Given the description of an element on the screen output the (x, y) to click on. 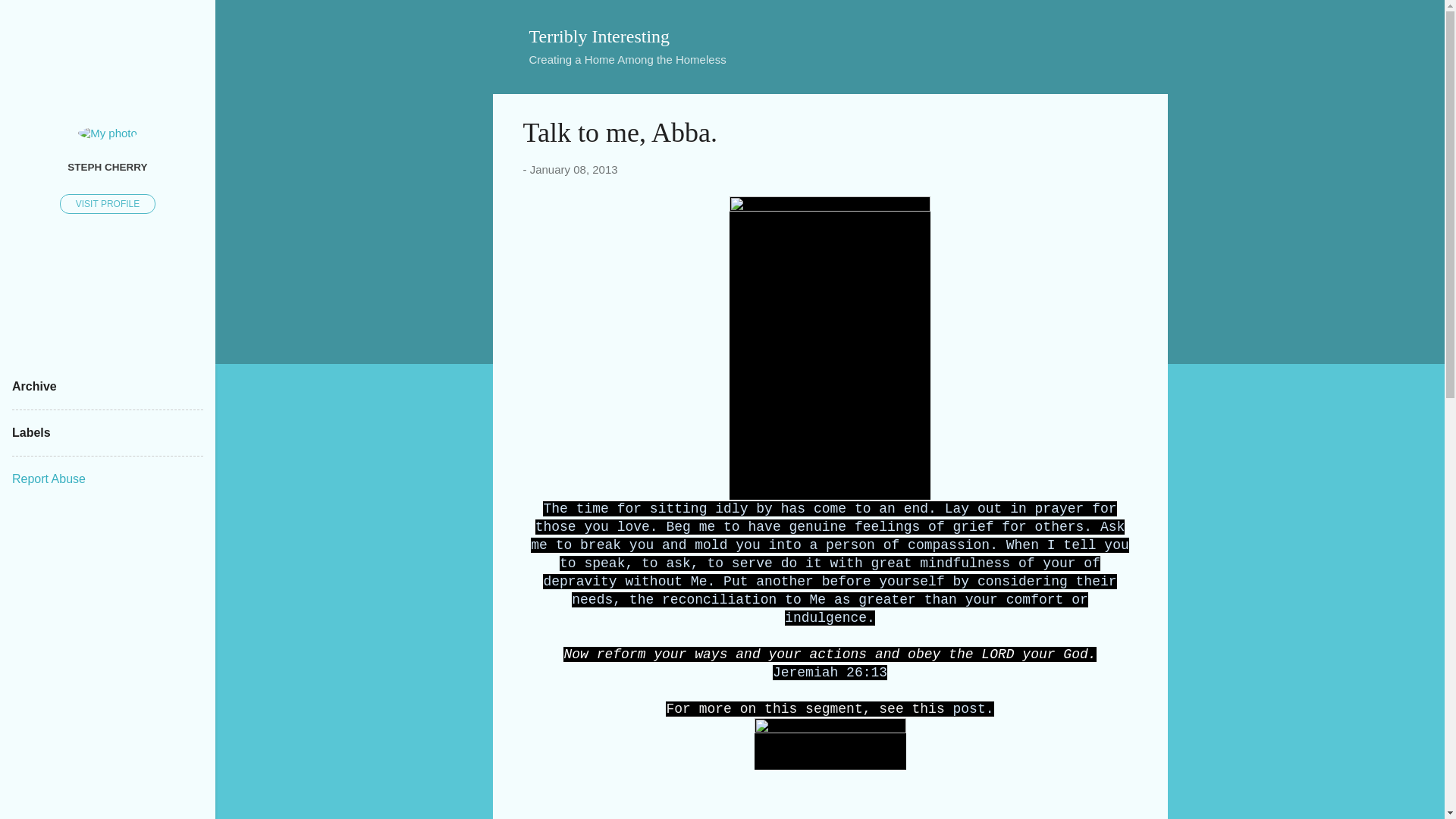
permanent link (573, 169)
STEPH CHERRY (107, 166)
Search (29, 18)
post (969, 708)
Terribly Interesting (599, 35)
VISIT PROFILE (107, 203)
Email Post (562, 811)
January 08, 2013 (573, 169)
